Given the description of an element on the screen output the (x, y) to click on. 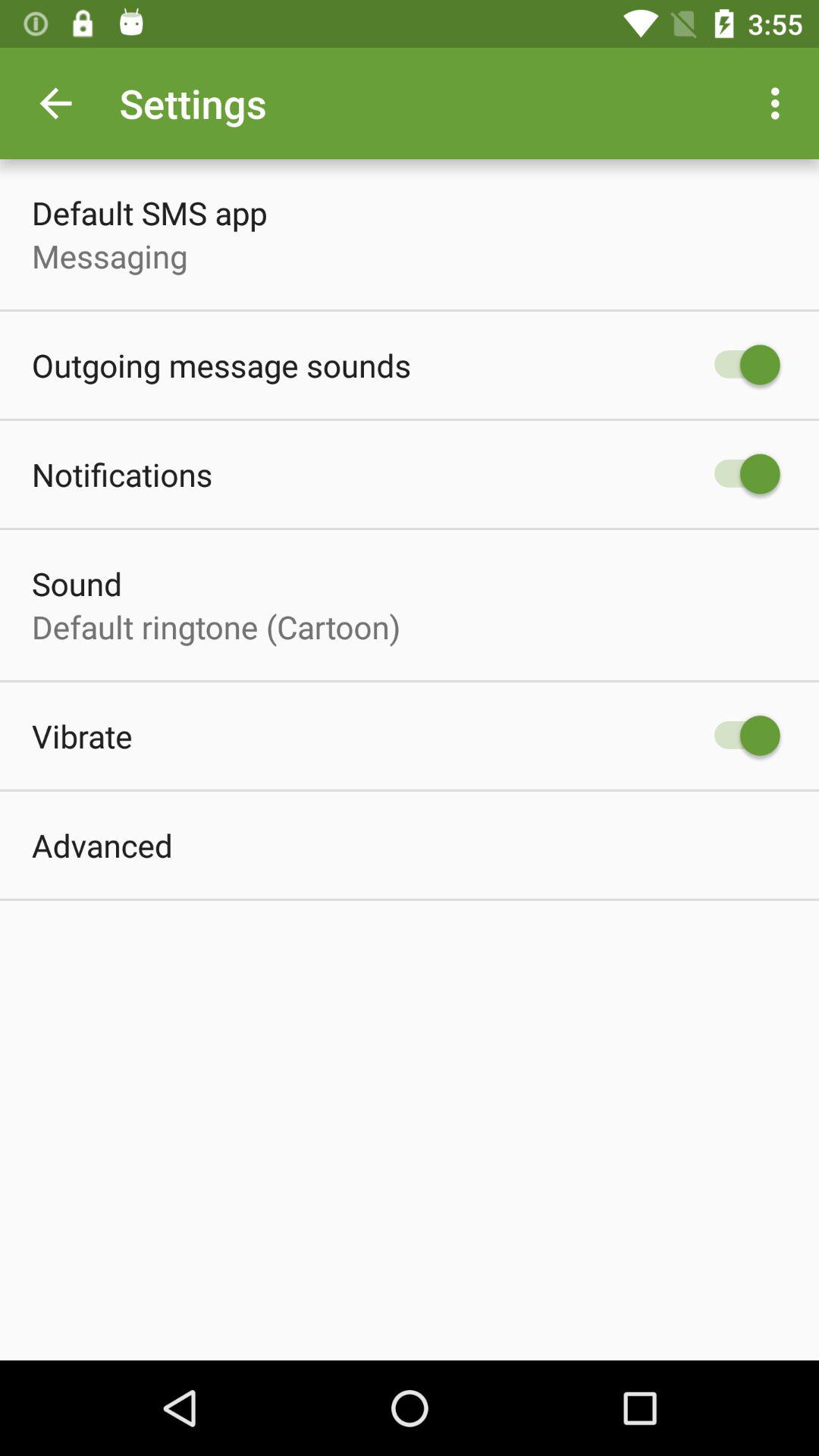
turn off advanced (101, 844)
